Given the description of an element on the screen output the (x, y) to click on. 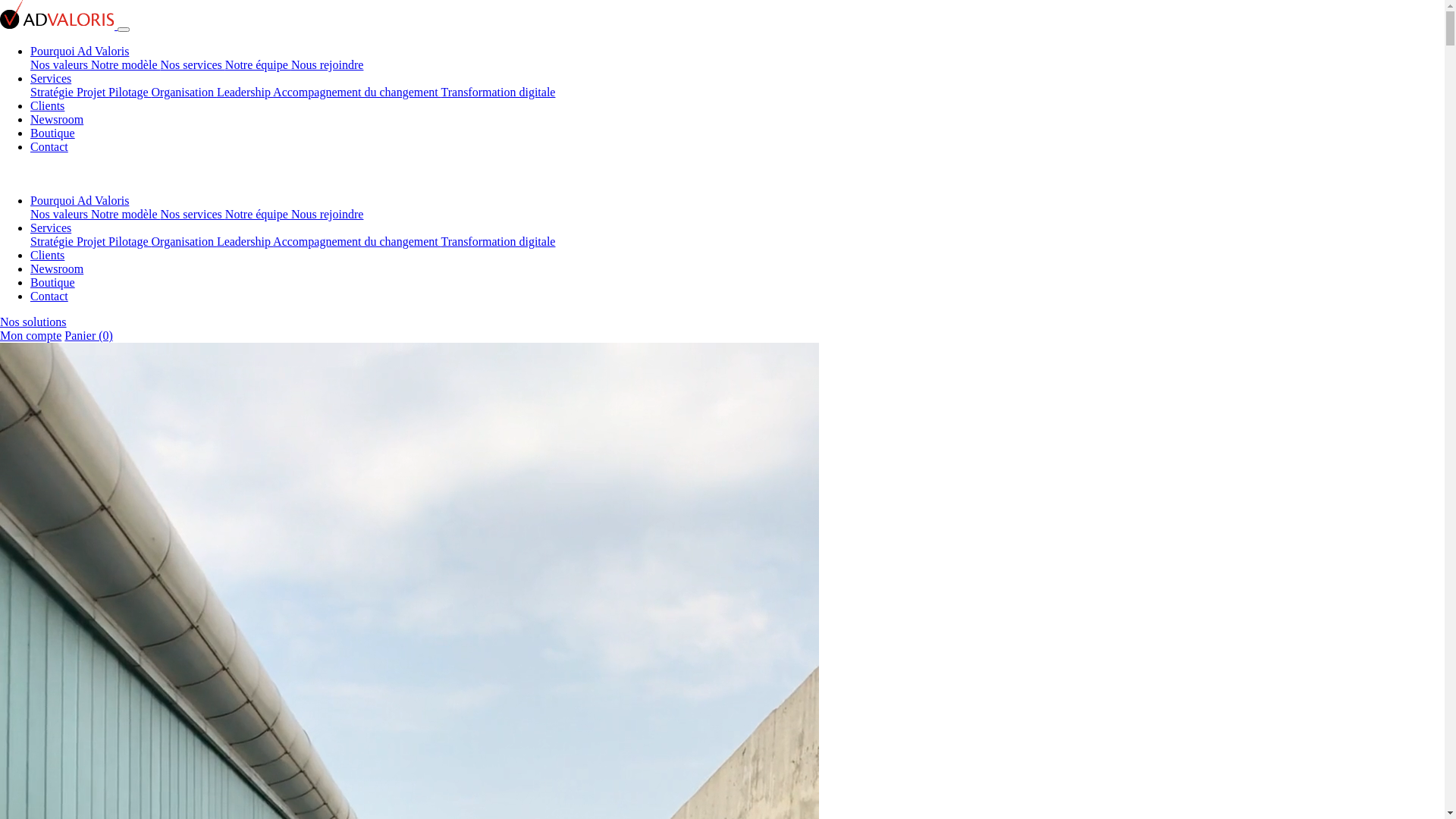
Newsroom Element type: text (56, 268)
Panier (0) Element type: text (88, 335)
Contact Element type: text (49, 146)
Nos services Element type: text (192, 64)
Organisation Element type: text (183, 91)
Nous rejoindre Element type: text (327, 213)
Projet Element type: text (92, 241)
Accompagnement du changement Element type: text (356, 91)
Newsroom Element type: text (56, 118)
Contact Element type: text (49, 295)
Services Element type: text (50, 227)
Services Element type: text (50, 78)
Nos solutions Element type: text (33, 321)
Transformation digitale Element type: text (498, 241)
Nos services Element type: text (192, 213)
Boutique Element type: text (52, 132)
Organisation Element type: text (183, 241)
Accompagnement du changement Element type: text (356, 241)
Pourquoi Ad Valoris Element type: text (79, 200)
Leadership Element type: text (244, 241)
Pilotage Element type: text (129, 91)
Pilotage Element type: text (129, 241)
Pourquoi Ad Valoris Element type: text (79, 50)
Projet Element type: text (92, 91)
Nous rejoindre Element type: text (327, 64)
Clients Element type: text (47, 105)
Nos valeurs Element type: text (60, 213)
Transformation digitale Element type: text (498, 91)
Leadership Element type: text (244, 91)
Nos valeurs Element type: text (60, 64)
Mon compte Element type: text (30, 335)
Boutique Element type: text (52, 282)
Clients Element type: text (47, 254)
